Given the description of an element on the screen output the (x, y) to click on. 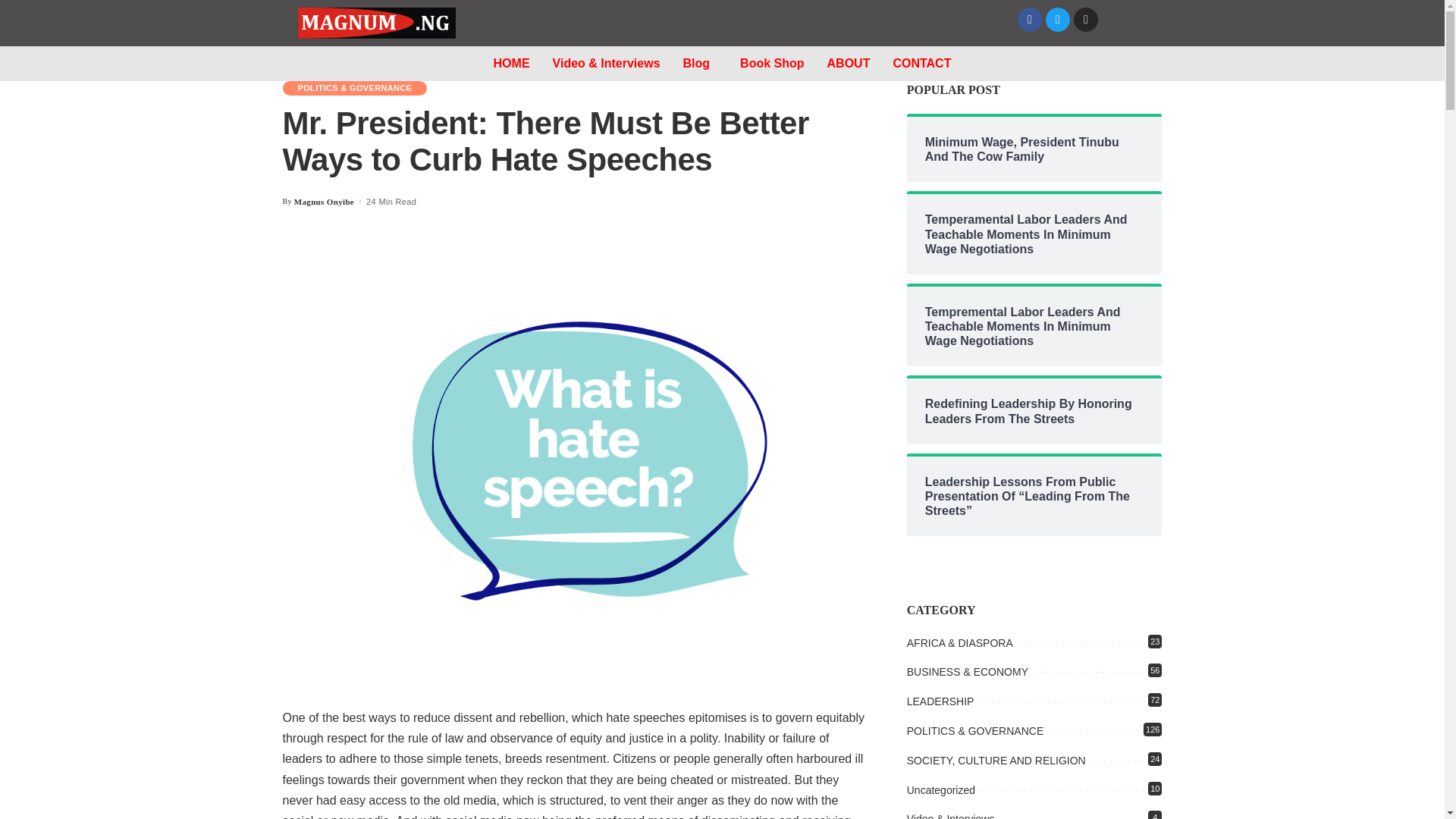
Go to Magnum.ng. (308, 61)
HOME (511, 63)
Blog (356, 61)
CONTACT (921, 63)
ABOUT (848, 63)
Book Shop (772, 63)
Magnum.ng (308, 61)
Magnus Onyibe (323, 202)
Go to Blog. (356, 61)
Blog (700, 63)
